Given the description of an element on the screen output the (x, y) to click on. 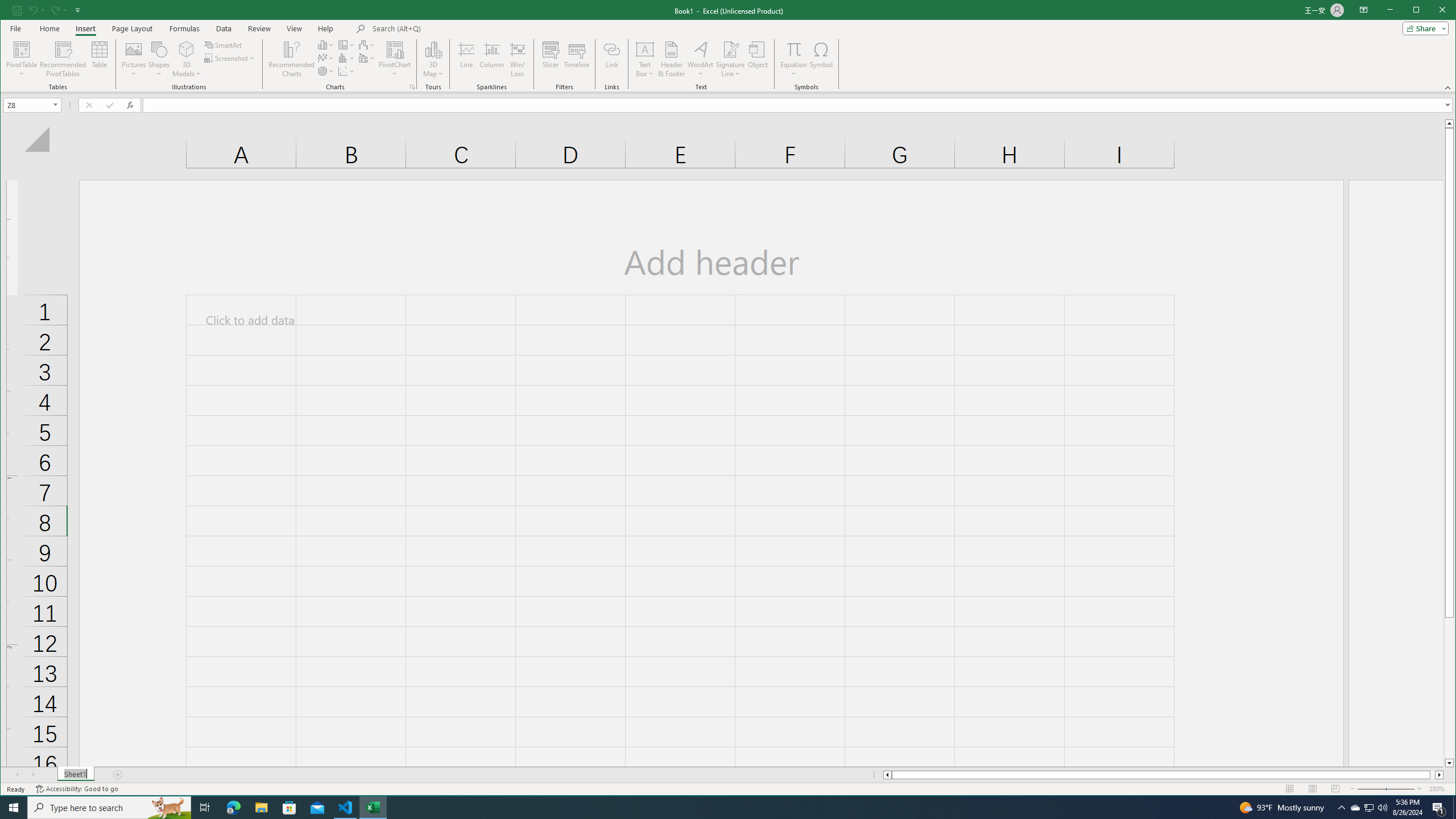
Equation (793, 48)
Signature Line (729, 59)
Task View (204, 807)
Slicer... (550, 59)
Microsoft Edge (233, 807)
